Given the description of an element on the screen output the (x, y) to click on. 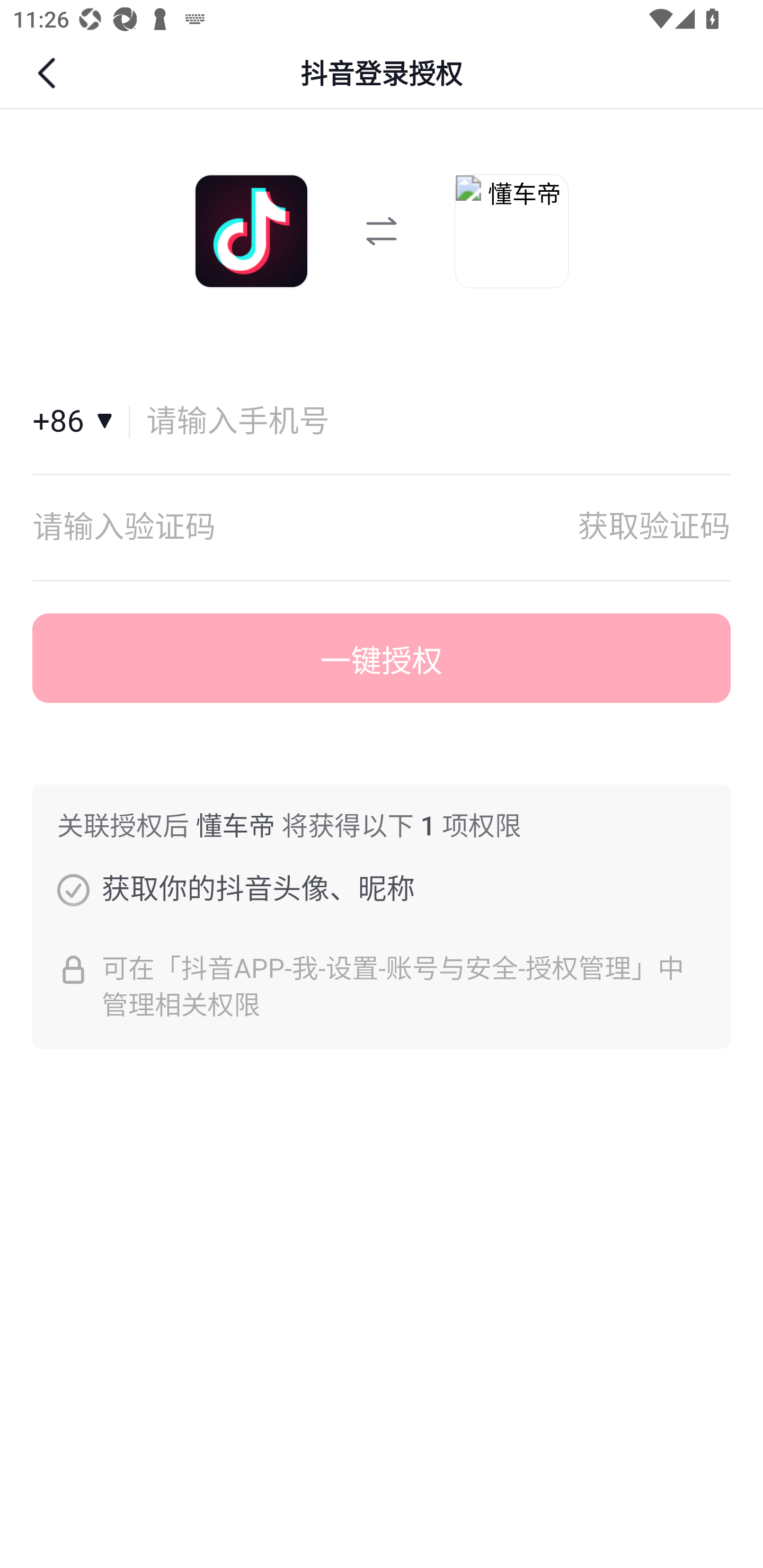
返回 (49, 72)
国家和地区+86 (81, 421)
获取验证码 (653, 526)
一键授权 (381, 658)
获取你的抖音头像、昵称 (72, 889)
